Given the description of an element on the screen output the (x, y) to click on. 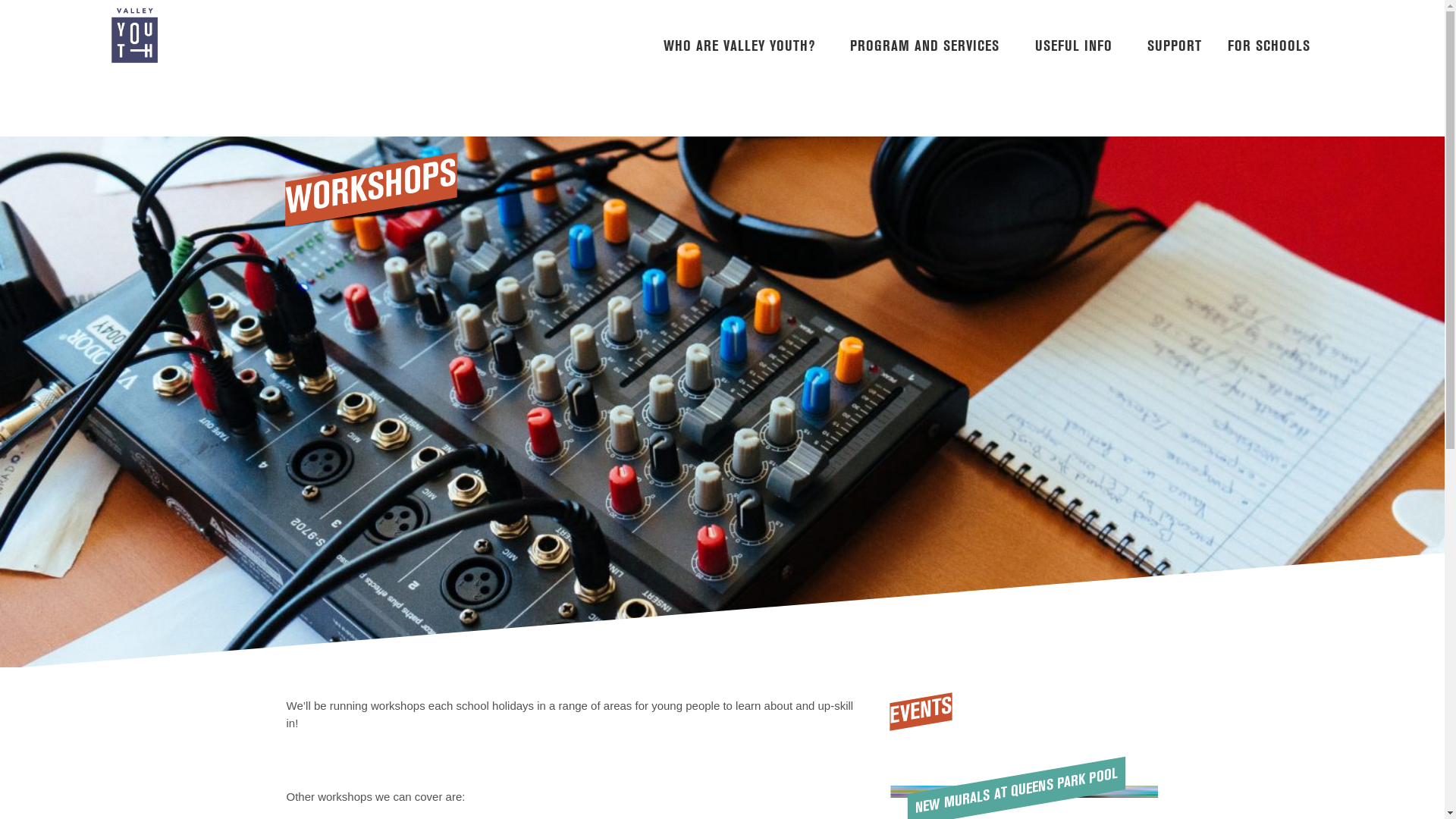
NEW MURALS AT QUEENS PARK POOL Element type: text (1014, 774)
Skip to main content Element type: text (0, 0)
VALLEY YOUTH Element type: text (204, 35)
SUPPORT Element type: text (1178, 34)
